Given the description of an element on the screen output the (x, y) to click on. 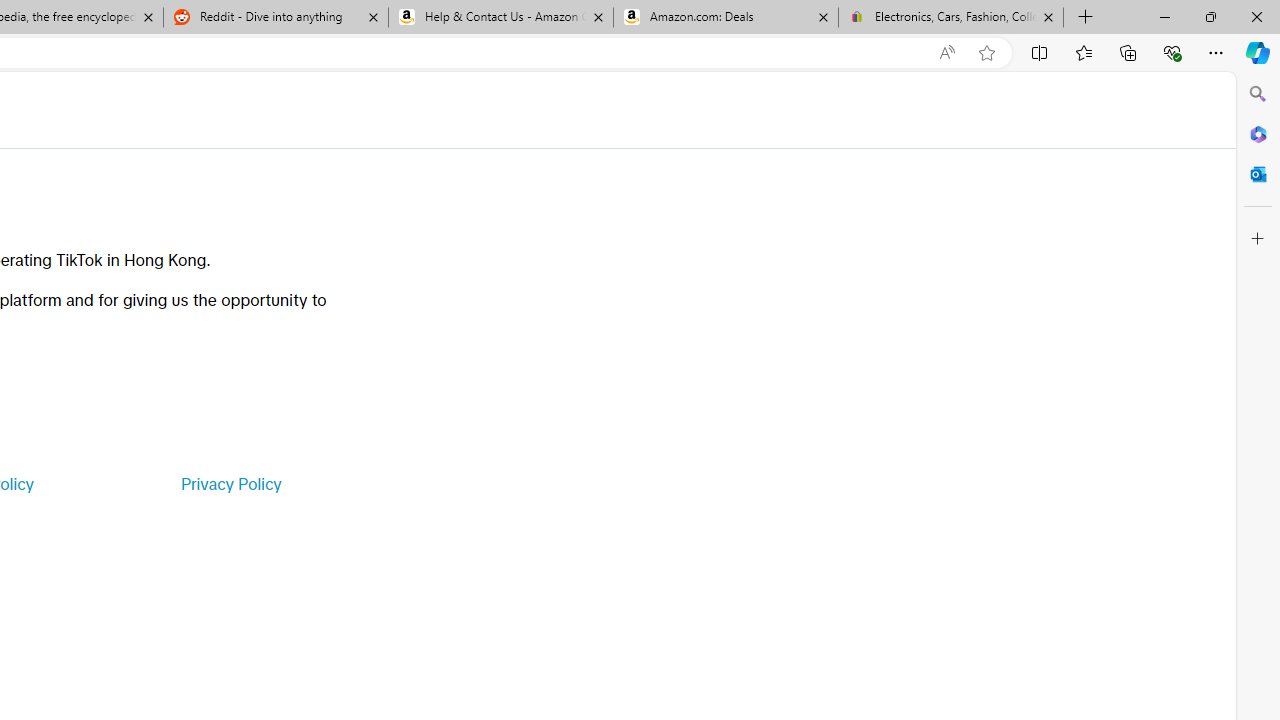
Privacy Policy (230, 484)
Amazon.com: Deals (726, 17)
